Given the description of an element on the screen output the (x, y) to click on. 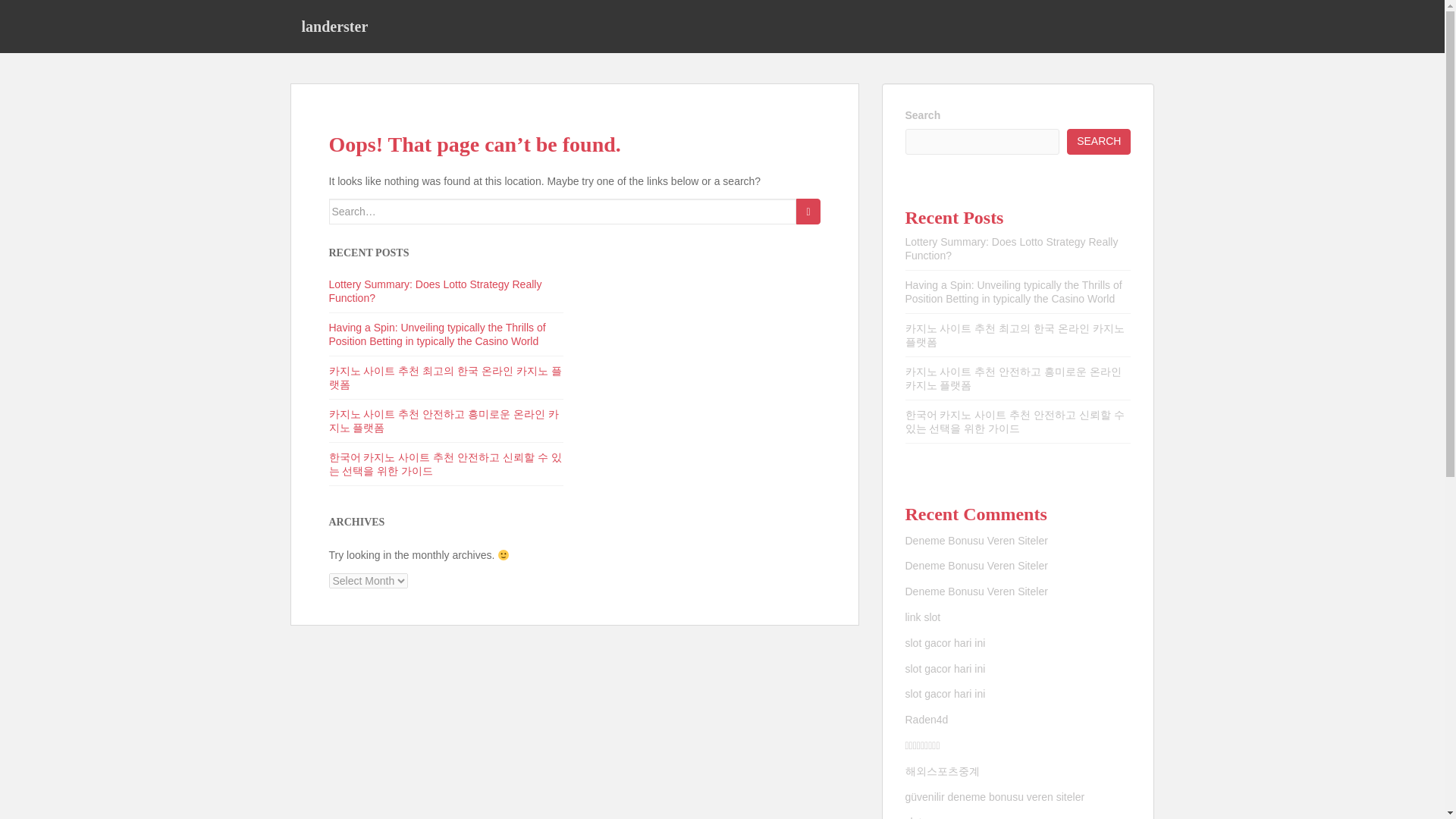
slot gacor hari ini (945, 668)
Raden4d (927, 719)
landerster (333, 26)
slot gacor hari ini  (946, 693)
slot gacor hari ini (945, 643)
Deneme Bonusu Veren Siteler (976, 565)
Deneme Bonusu Veren Siteler (976, 540)
Deneme Bonusu Veren Siteler (976, 591)
